Given the description of an element on the screen output the (x, y) to click on. 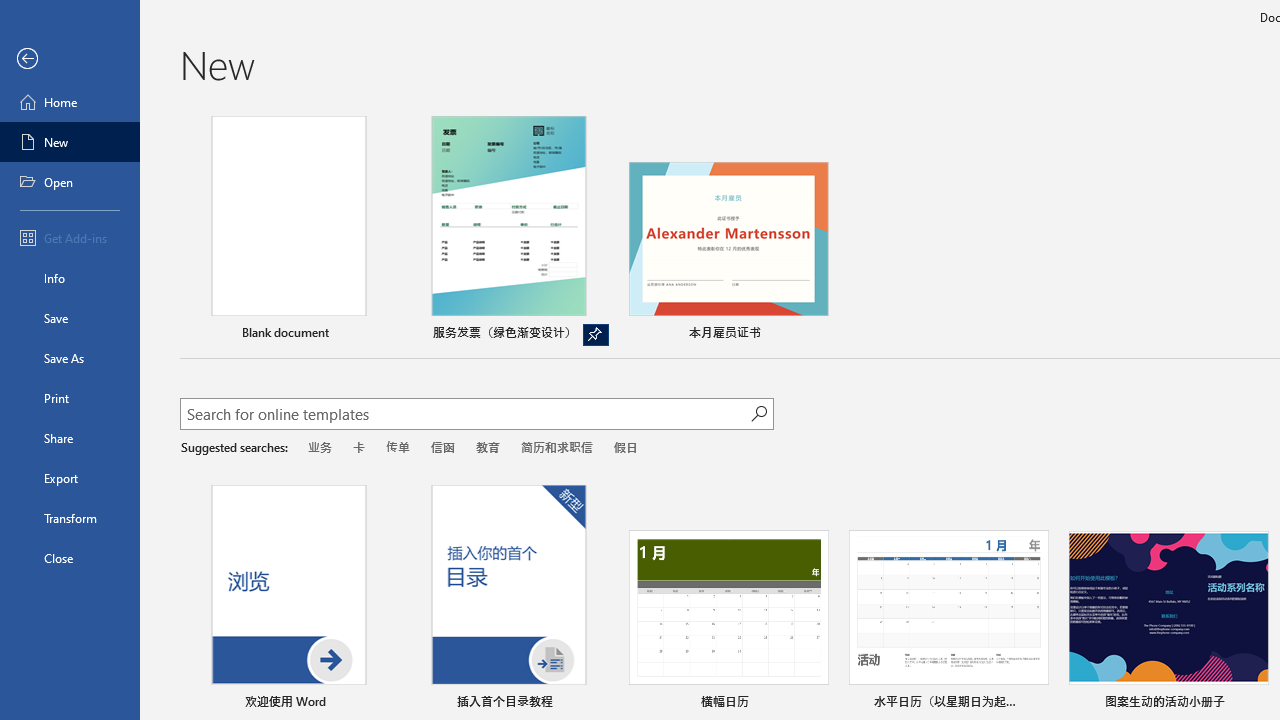
Transform (69, 517)
Home (69, 101)
Pin to list (1255, 703)
Print (69, 398)
Share (69, 437)
Back (69, 59)
Blank document (288, 231)
Export (69, 477)
